Given the description of an element on the screen output the (x, y) to click on. 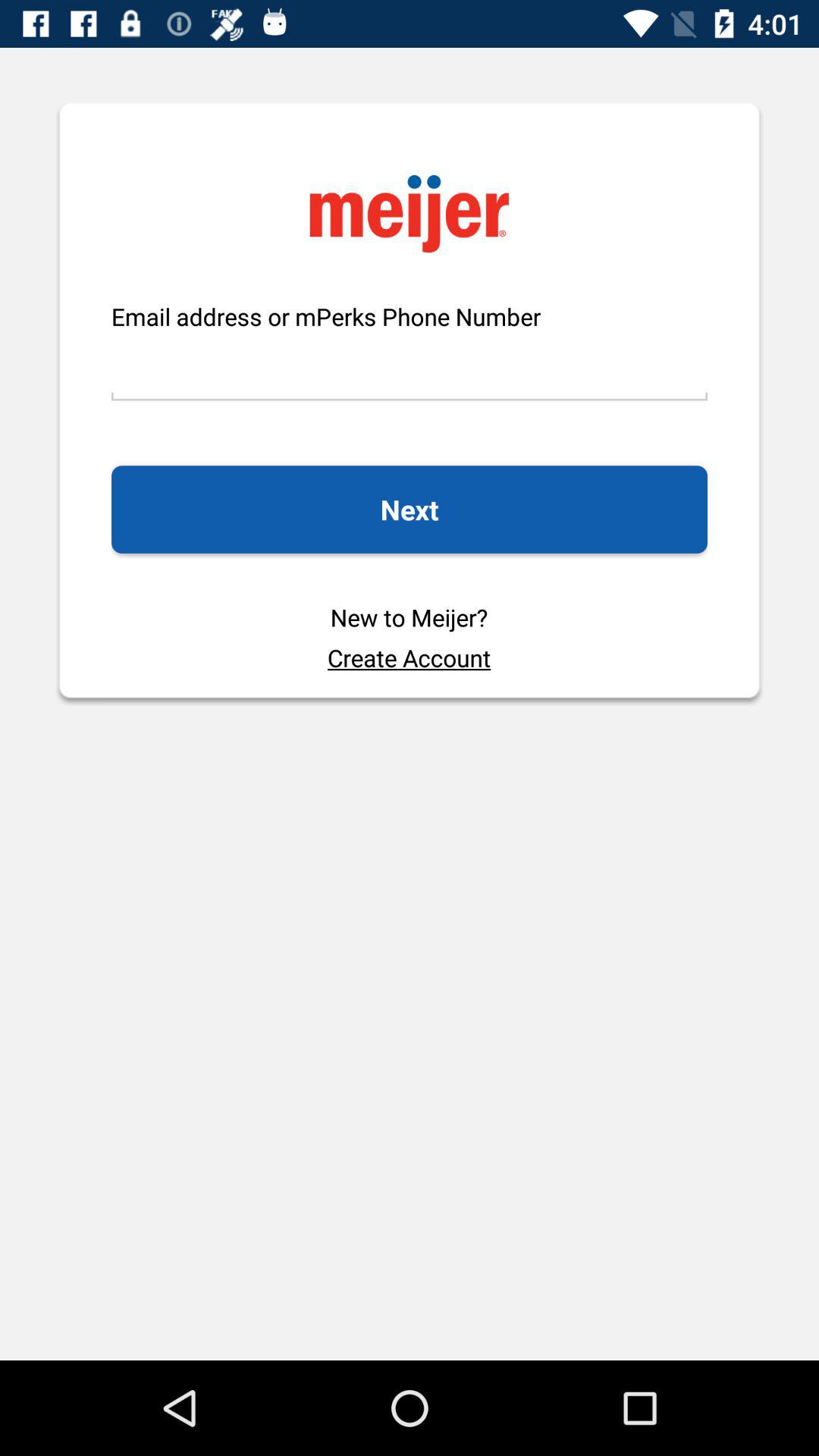
turn off icon below new to meijer? (408, 657)
